Given the description of an element on the screen output the (x, y) to click on. 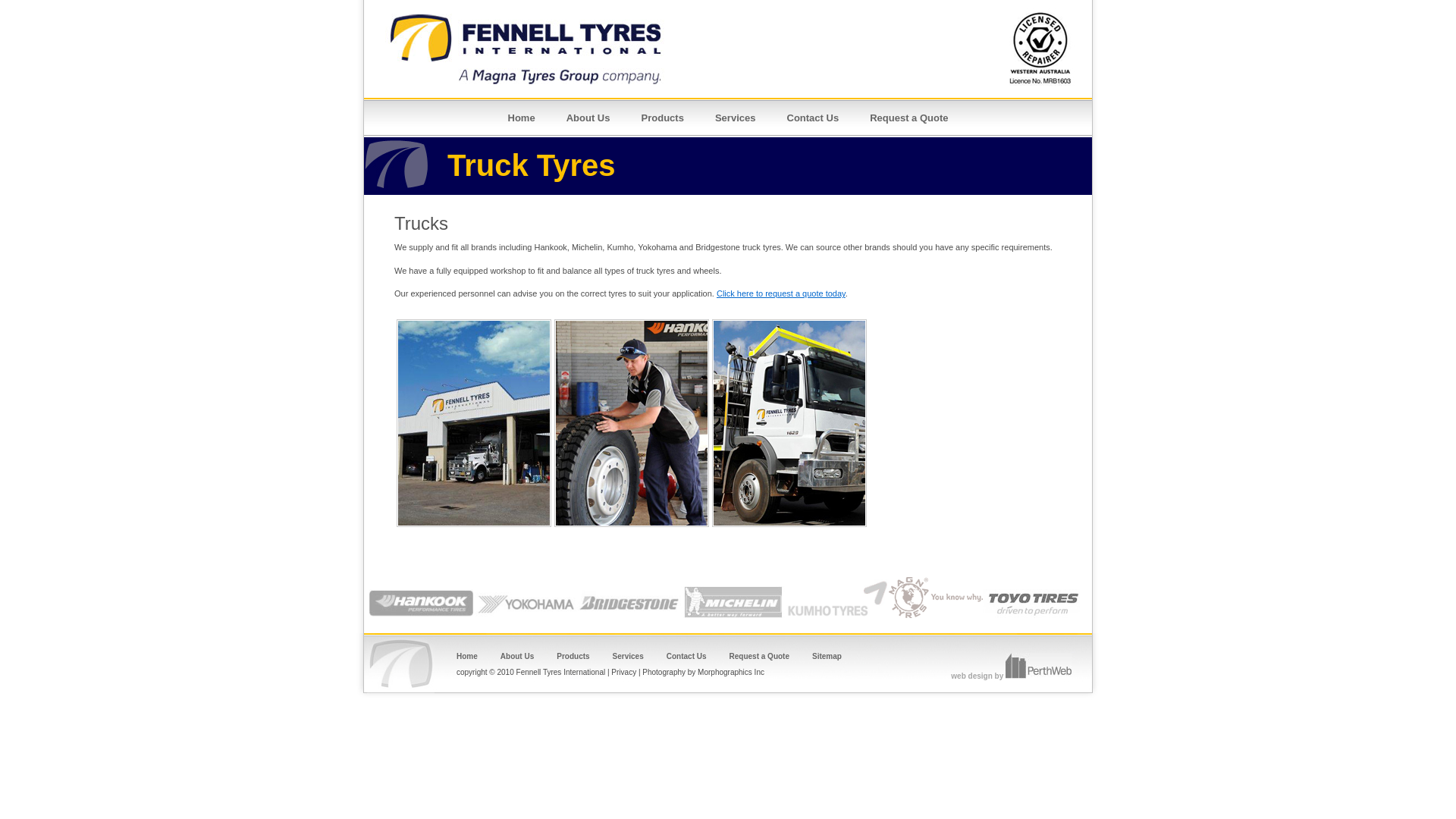
Products Element type: text (572, 656)
Photography by Morphographics Inc Element type: text (703, 672)
Privacy Element type: text (623, 672)
Products Element type: text (662, 117)
Services Element type: text (735, 117)
web design by Element type: text (1010, 675)
About Us Element type: text (588, 117)
Services Element type: text (627, 656)
Request a Quote Element type: text (759, 656)
About Us Element type: text (516, 656)
Sitemap Element type: text (826, 656)
Home Element type: text (520, 117)
Contact Us Element type: text (686, 656)
Request a Quote Element type: text (908, 117)
Contact Us Element type: text (812, 117)
Home Element type: text (466, 656)
Click here to request a quote today Element type: text (780, 293)
